Given the description of an element on the screen output the (x, y) to click on. 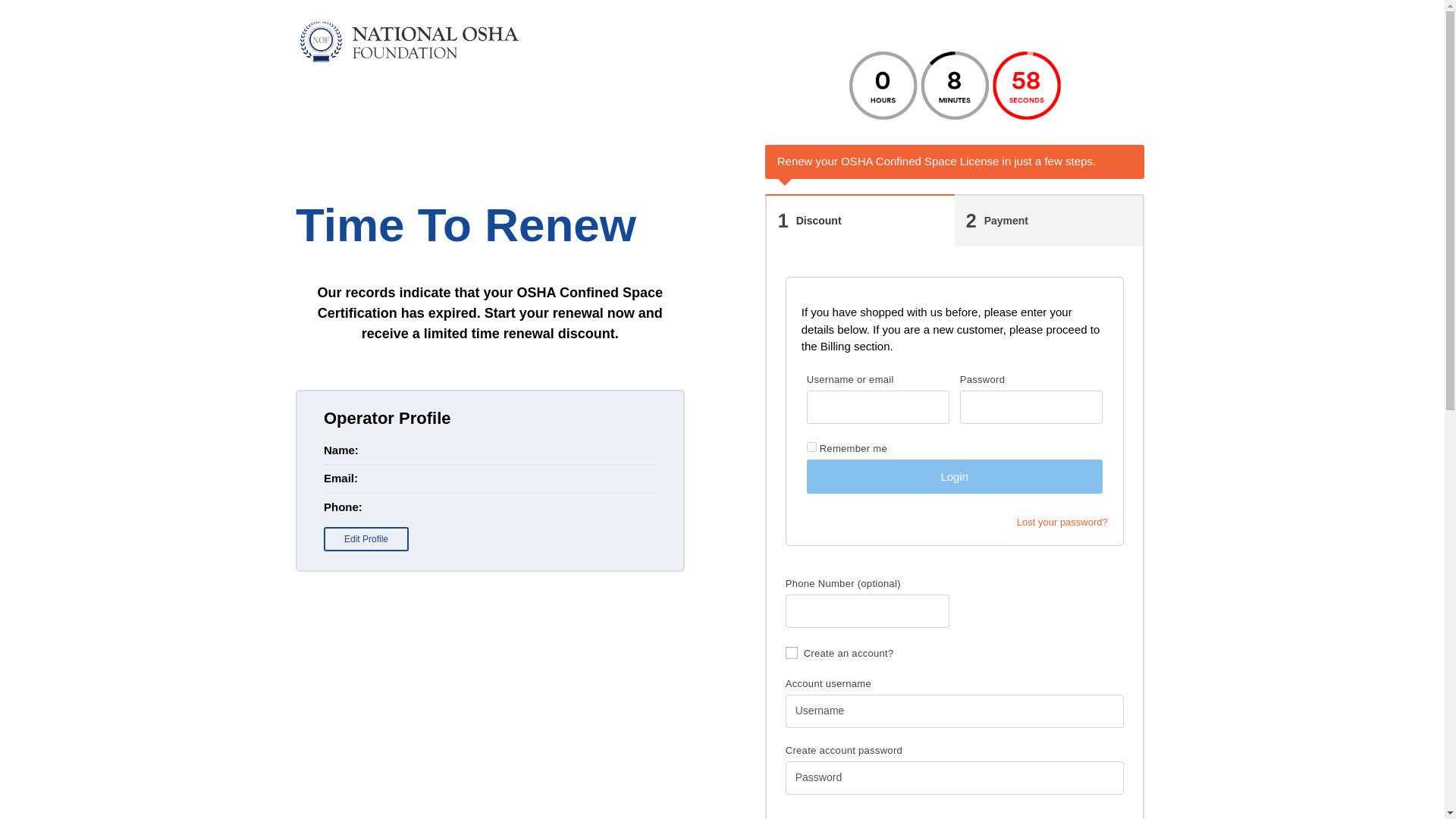
forever (1048, 221)
Lost your password? (811, 447)
Edit Profile (1062, 521)
Login (366, 539)
1 (954, 476)
